Given the description of an element on the screen output the (x, y) to click on. 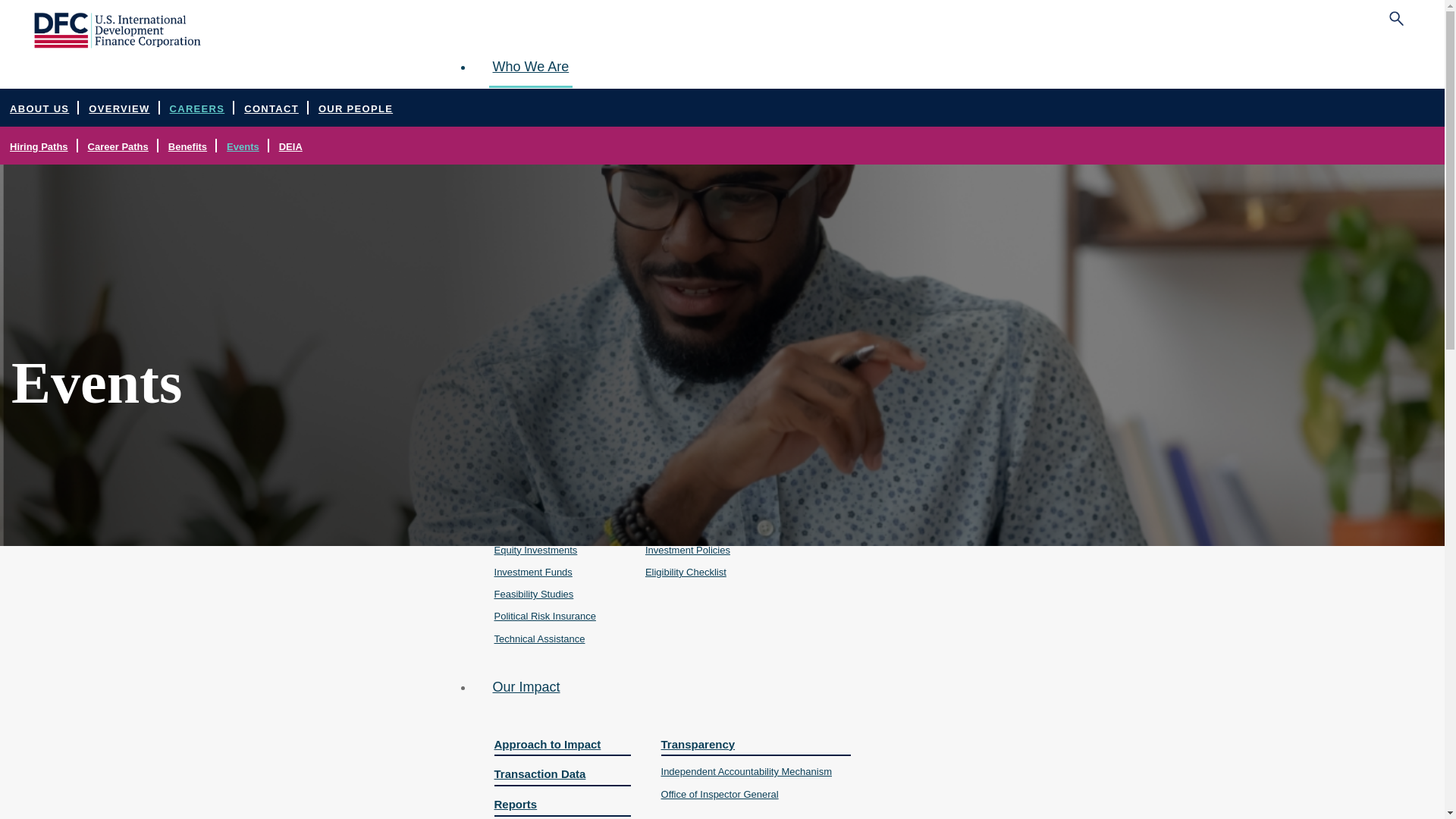
Executive Staff (669, 152)
Apply (814, 500)
Investment Stories (698, 352)
Development Advisory Council (669, 196)
Our Impact (526, 686)
Debt Financing (554, 527)
Investment Funds (554, 572)
Work With Us (701, 500)
Eligibility Checklist (701, 572)
Equity Investments (554, 550)
Regions (551, 349)
Our People (669, 124)
Political Risk Insurance (554, 616)
Home (116, 43)
